Given the description of an element on the screen output the (x, y) to click on. 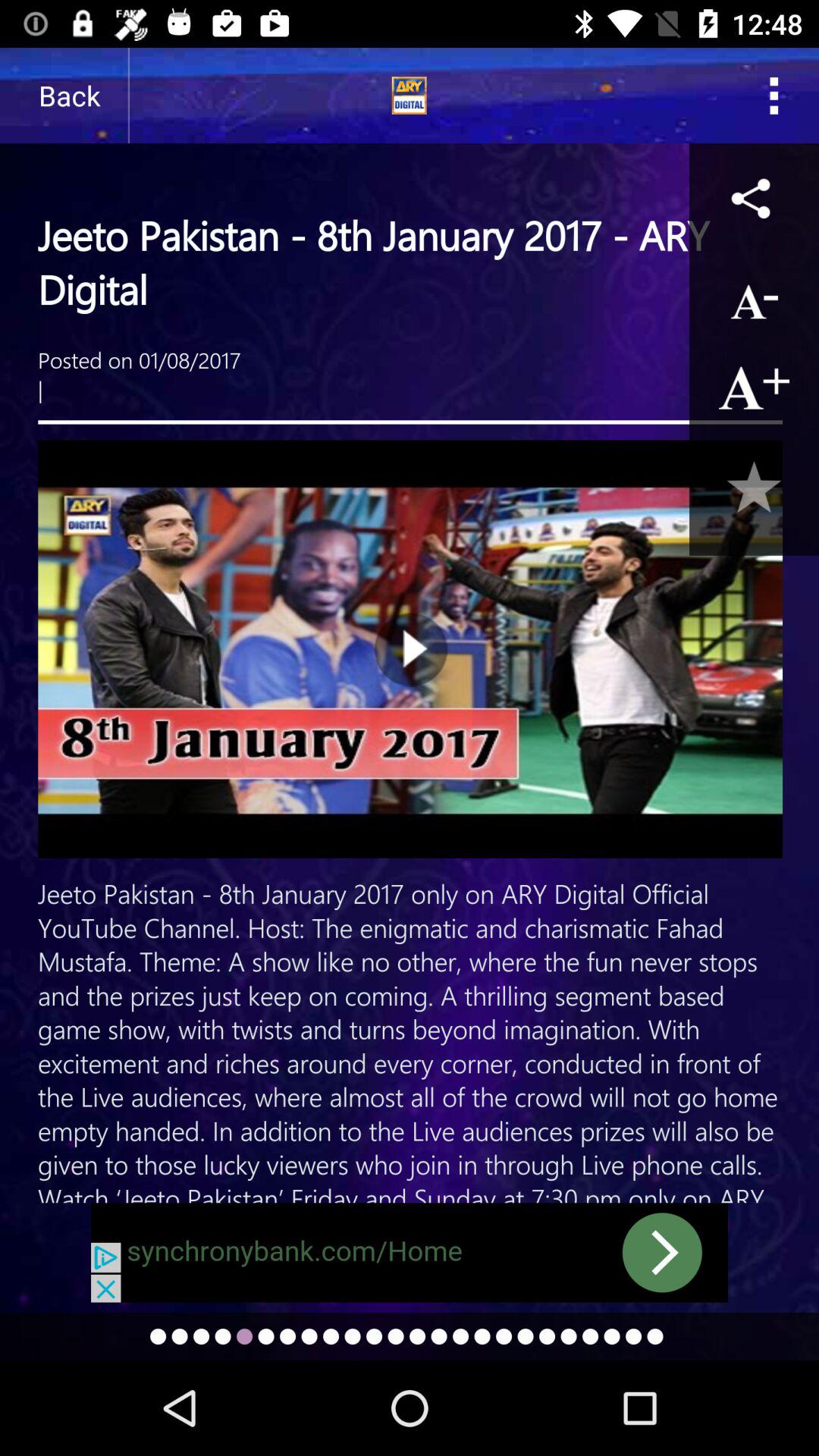
enlarge text (754, 387)
